Given the description of an element on the screen output the (x, y) to click on. 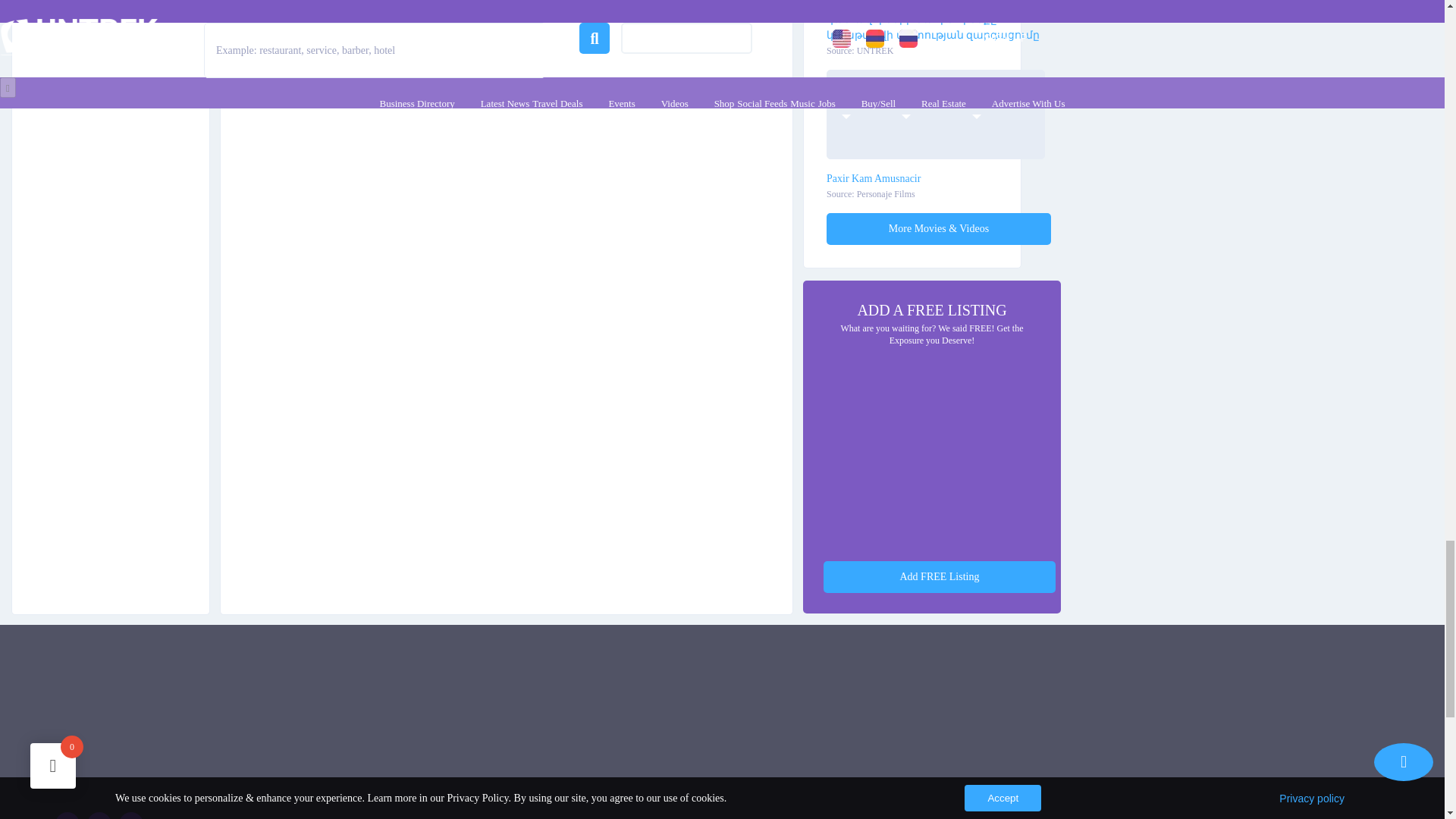
Paxir Kam Amusnacir (935, 178)
